Given the description of an element on the screen output the (x, y) to click on. 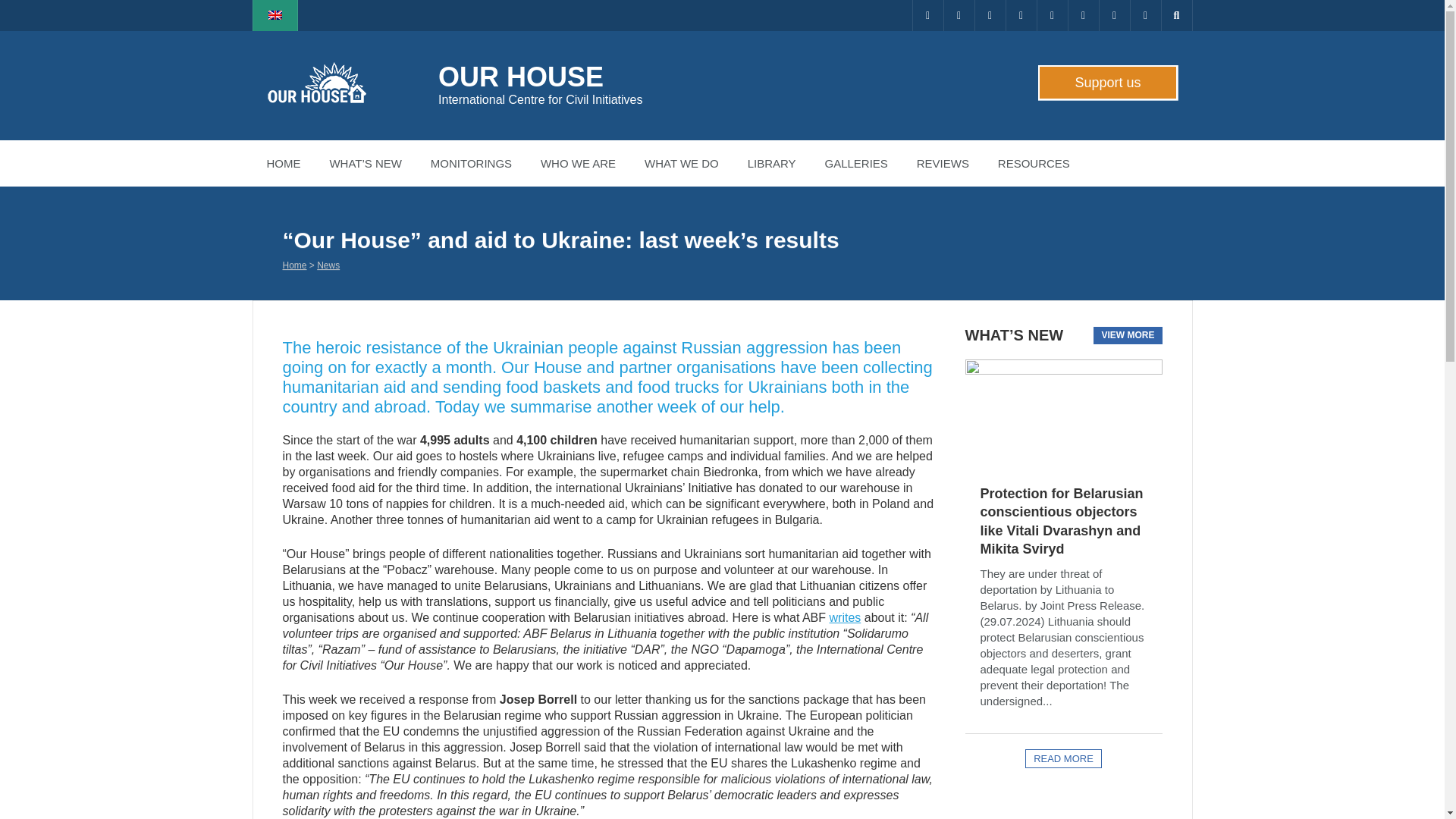
Facebook (958, 15)
HOME (282, 163)
LIBRARY (771, 163)
Support us (1106, 82)
TikTok (1082, 15)
Instagram (990, 15)
OUR HOUSE (521, 76)
Support us (1106, 82)
OUR HOUSE - Support Belarus and Ukraine (521, 76)
